Given the description of an element on the screen output the (x, y) to click on. 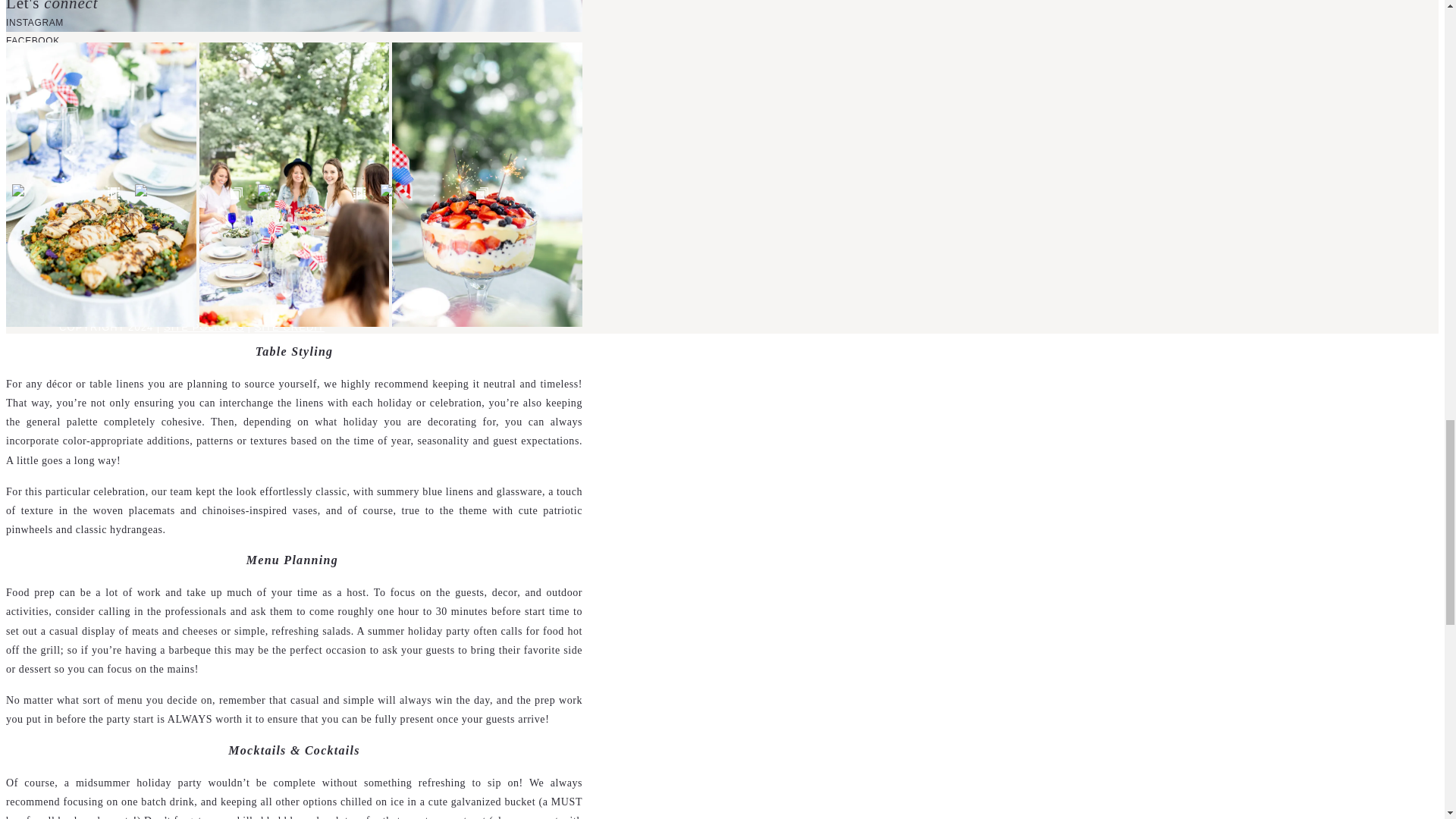
INSTAGRAM (34, 22)
FACEBOOK (32, 40)
SITE CREDIT (289, 326)
SITE POLICIES (203, 326)
PINTEREST (33, 59)
